Given the description of an element on the screen output the (x, y) to click on. 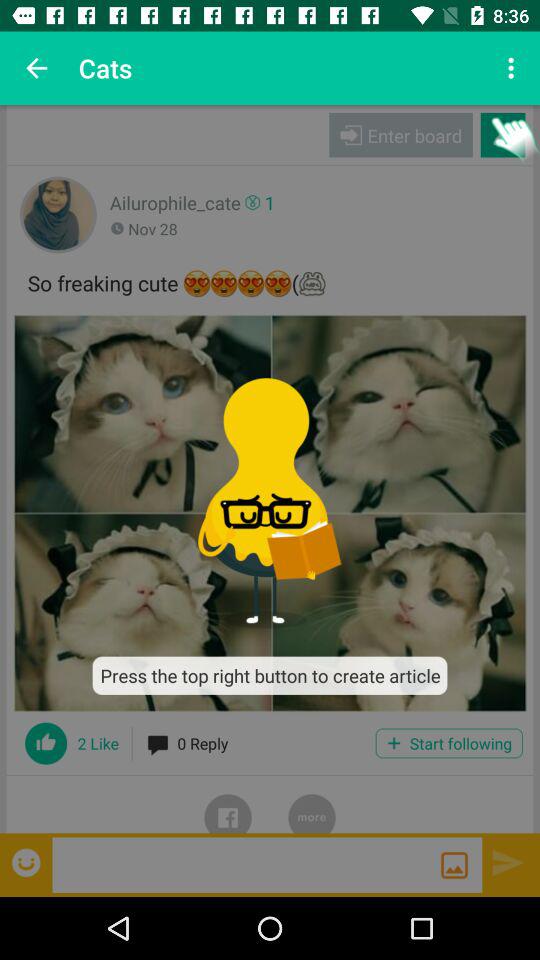
open full picture (269, 513)
